Given the description of an element on the screen output the (x, y) to click on. 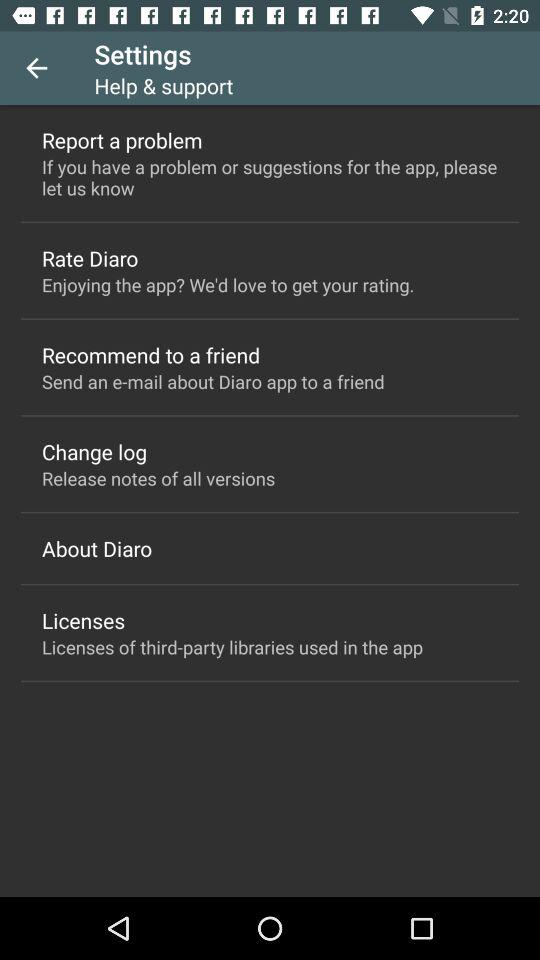
choose rate diaro (90, 258)
